Given the description of an element on the screen output the (x, y) to click on. 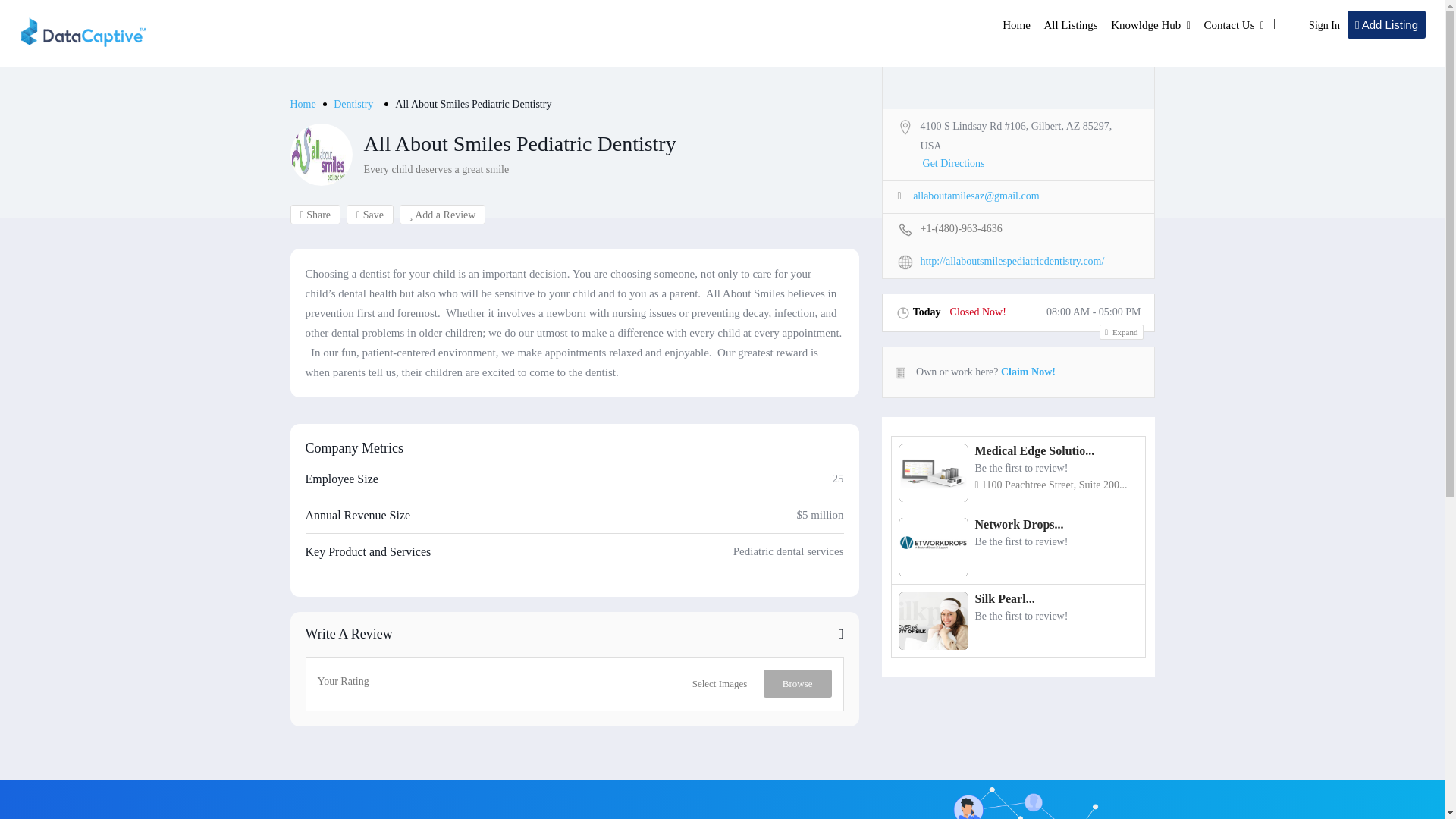
Knowldge Hub (1145, 24)
Save (369, 214)
Submit (413, 502)
Add a Review (442, 214)
Contact Us (1228, 24)
Sign In (1323, 25)
Home (302, 103)
Share (314, 214)
All Listings (1070, 24)
Home (1016, 24)
